Given the description of an element on the screen output the (x, y) to click on. 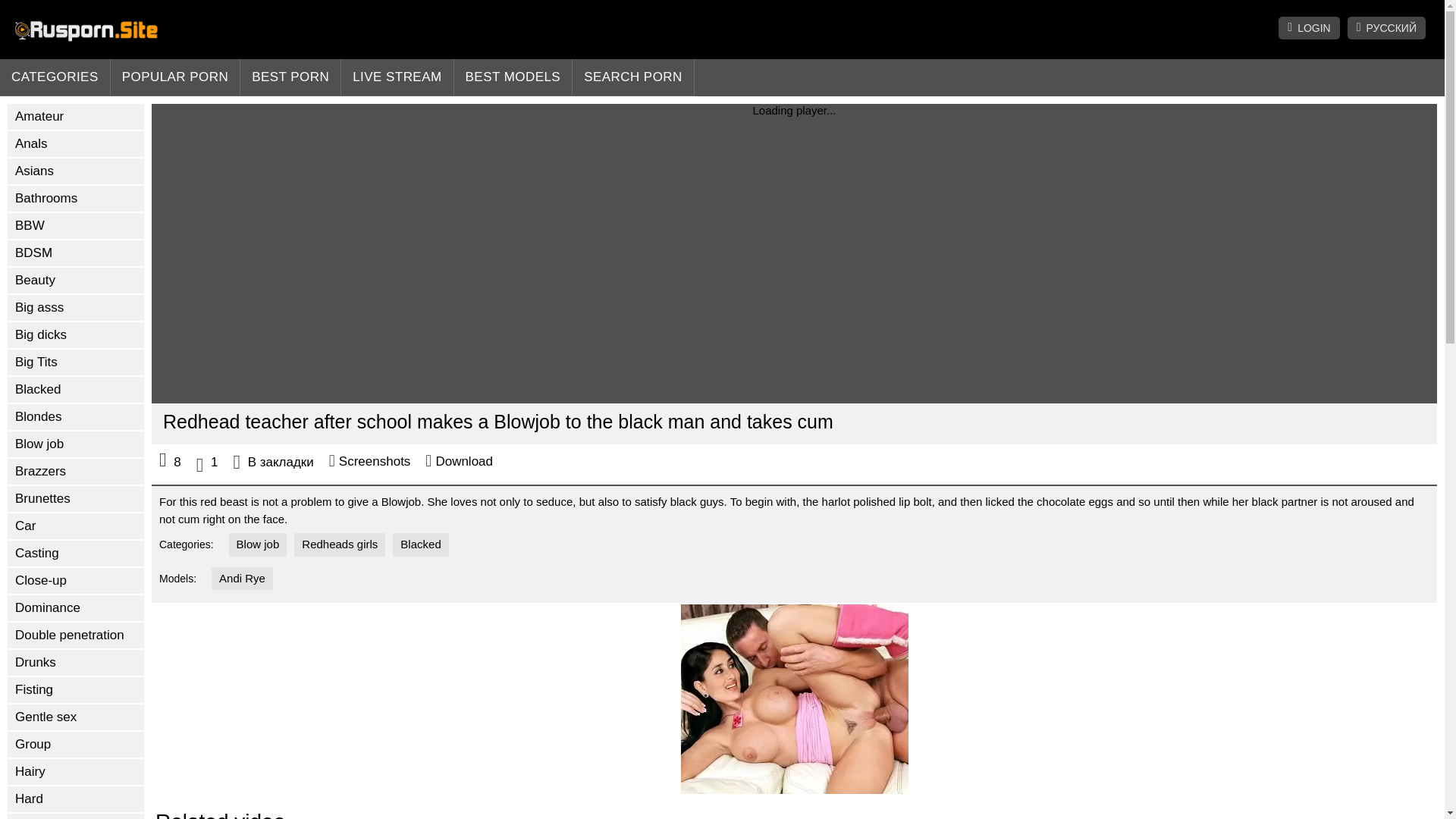
In college (75, 816)
LOGIN (1308, 27)
Asians (75, 171)
POPULAR PORN (175, 77)
Big dicks (75, 335)
Blow job (75, 444)
Double penetration (75, 635)
Brunettes (75, 498)
Blondes (75, 416)
Car (75, 525)
Group (75, 744)
Dominance (75, 607)
Big Tits (75, 362)
LIVE STREAM (396, 77)
Close-up (75, 580)
